Given the description of an element on the screen output the (x, y) to click on. 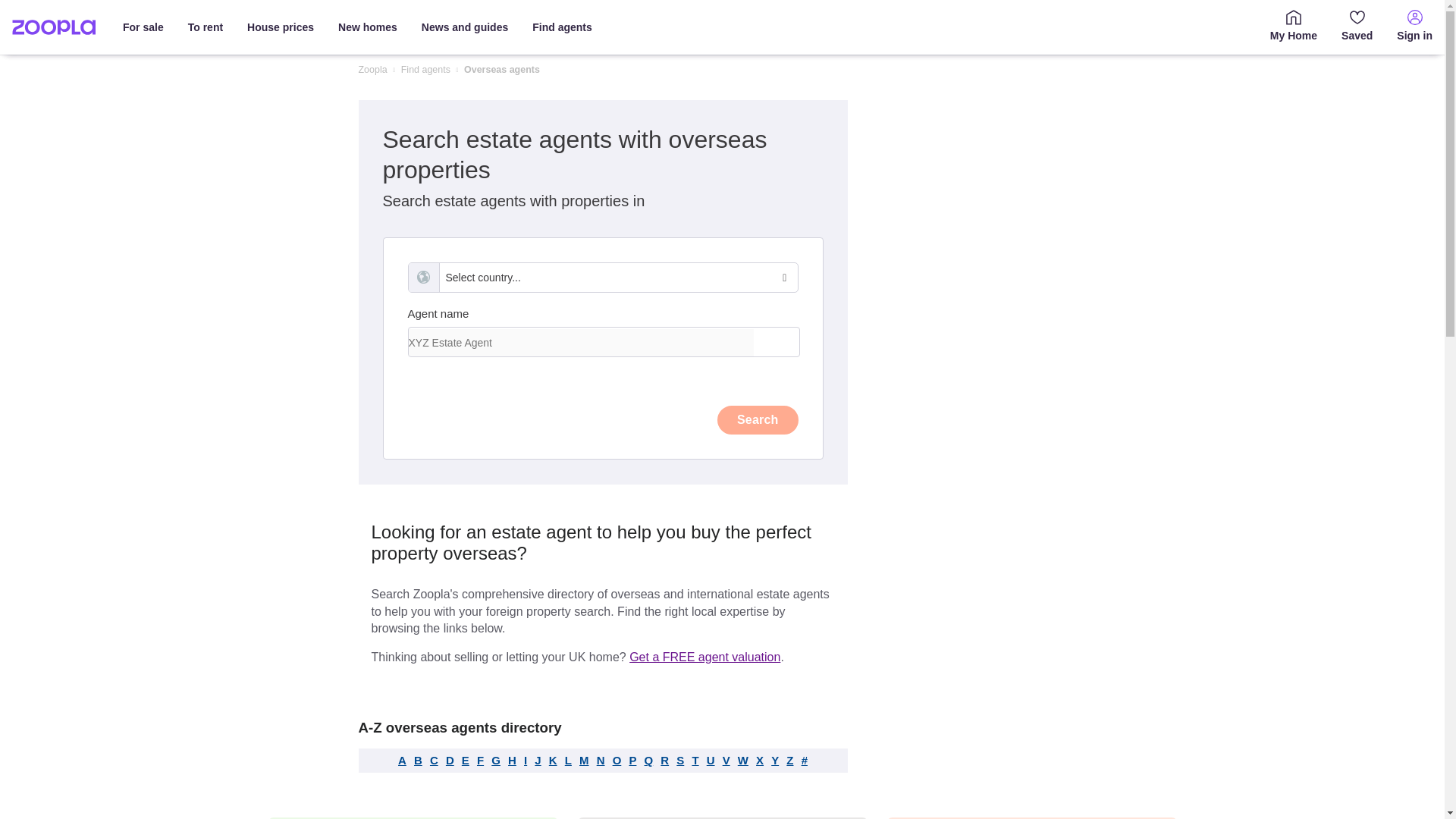
Saved (1356, 27)
My Home (1293, 27)
For sale (143, 27)
